Given the description of an element on the screen output the (x, y) to click on. 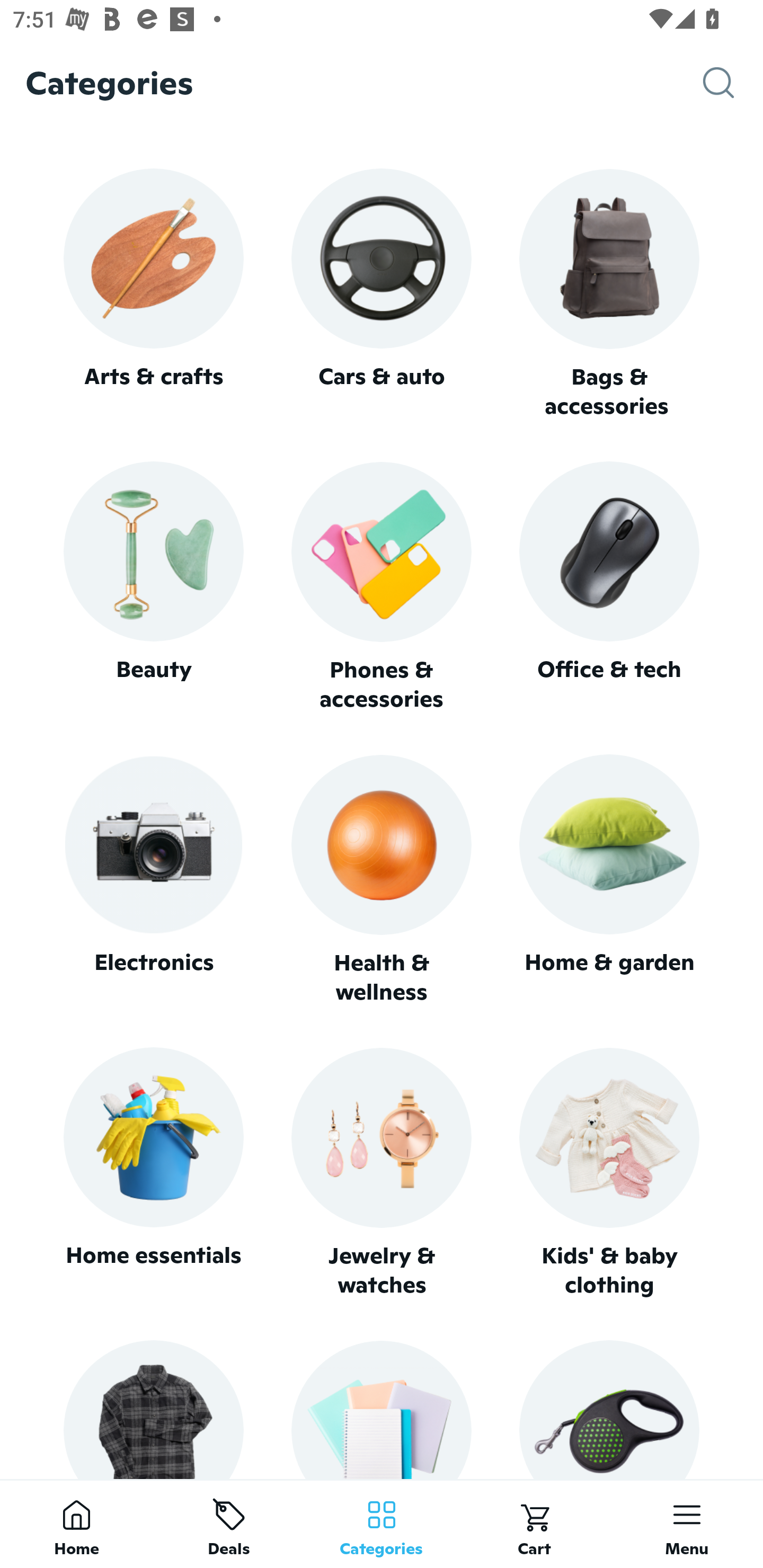
Search (732, 82)
Arts & crafts (153, 293)
Cars & auto (381, 293)
Bags & accessories  (609, 294)
Beauty (153, 586)
Office & tech (609, 586)
Phones & accessories (381, 587)
Electronics (153, 880)
Home & garden (609, 880)
Health & wellness (381, 880)
Home essentials (153, 1172)
Jewelry & watches (381, 1172)
Kids' & baby clothing (609, 1172)
Men's clothing (153, 1409)
Pet supplies (609, 1409)
Office & school supplies (381, 1409)
Home (76, 1523)
Deals (228, 1523)
Categories (381, 1523)
Cart (533, 1523)
Menu (686, 1523)
